Given the description of an element on the screen output the (x, y) to click on. 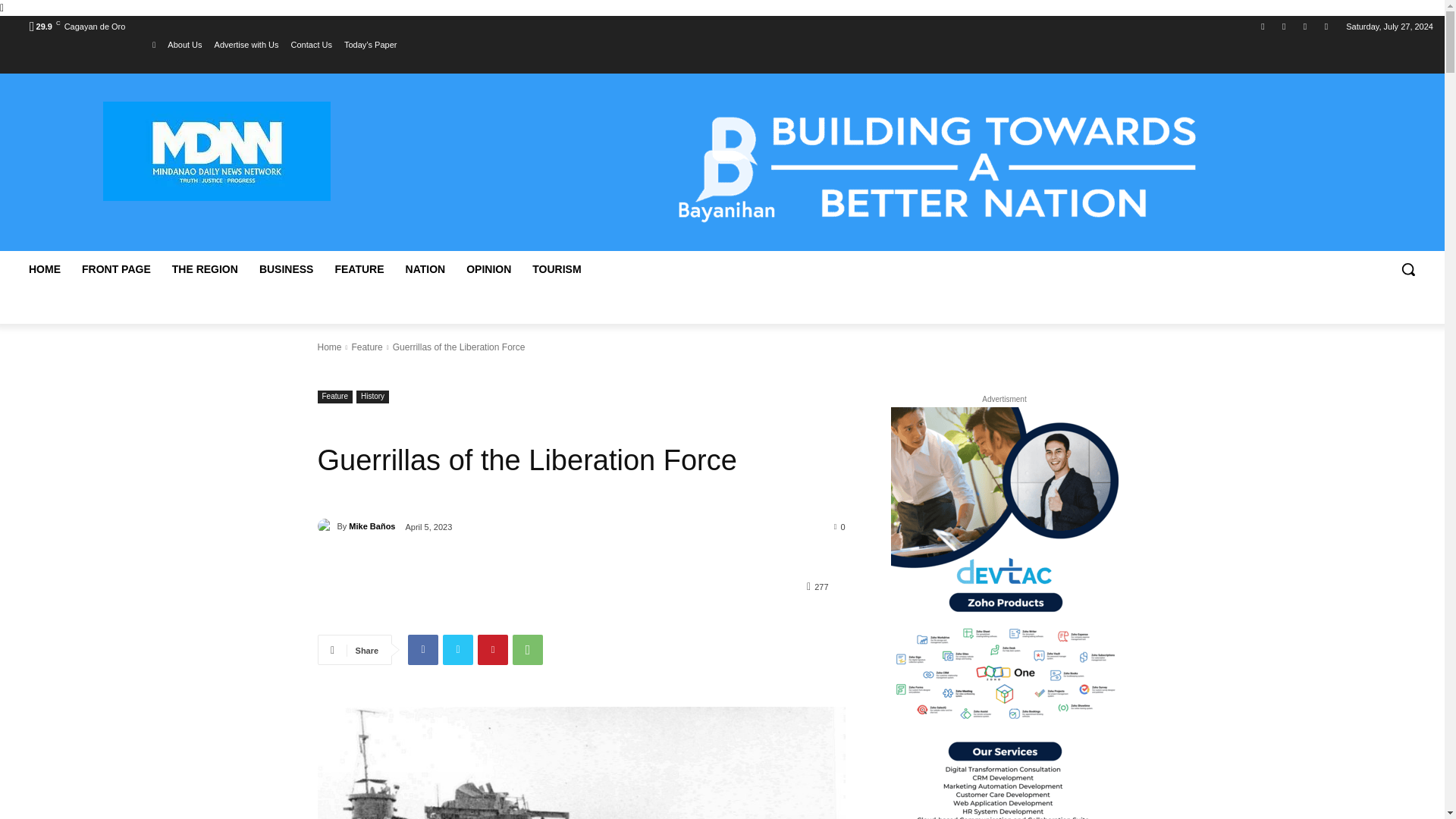
BUSINESS (286, 268)
OPINION (488, 268)
NATION (425, 268)
Home (328, 347)
HOME (44, 268)
FEATURE (358, 268)
FRONT PAGE (116, 268)
Twitter (1283, 27)
Advertise with Us (246, 44)
Instagram (1305, 27)
TOURISM (556, 268)
Facebook (1262, 27)
Contact Us (311, 44)
